Given the description of an element on the screen output the (x, y) to click on. 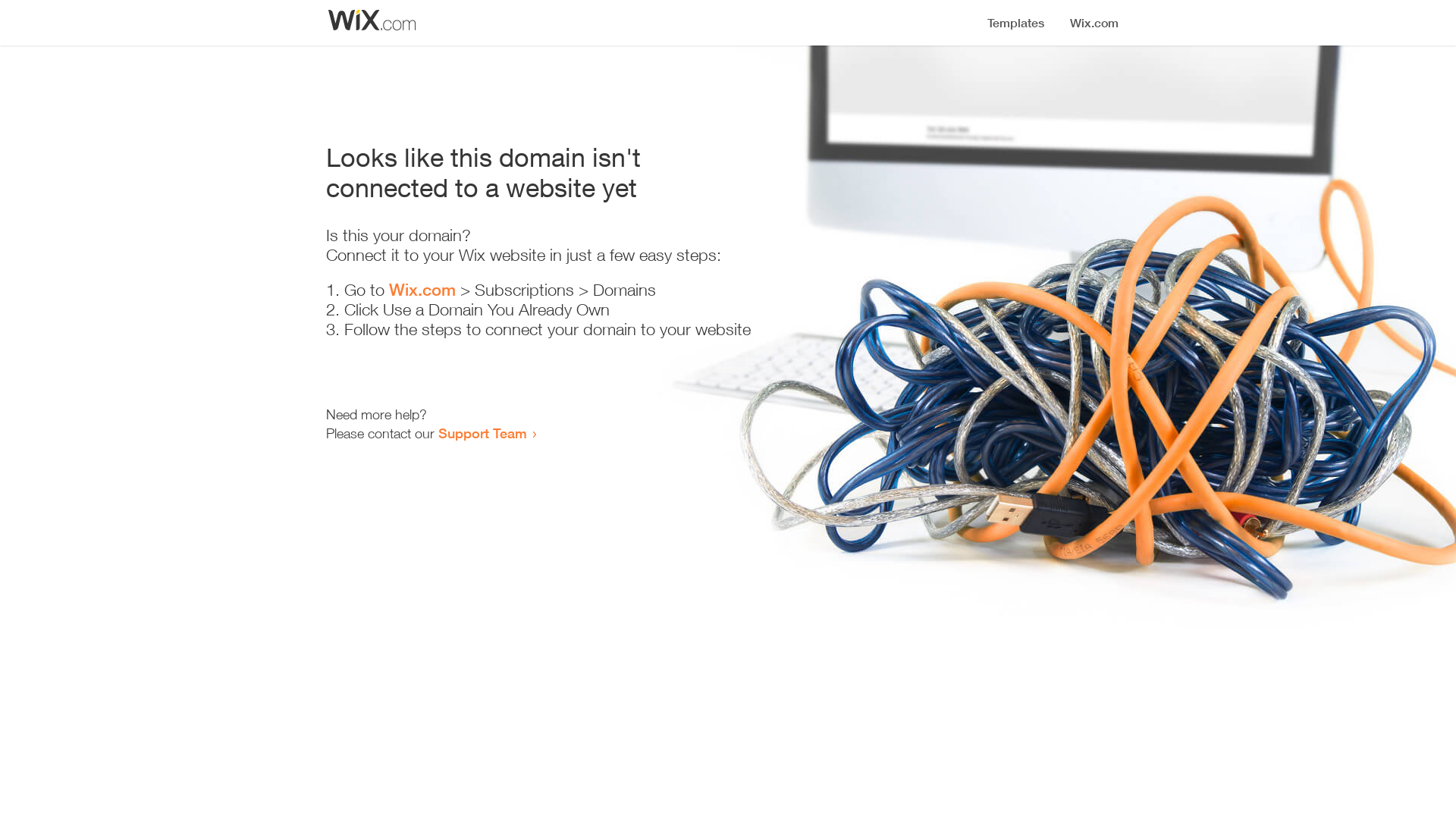
Wix.com Element type: text (422, 289)
Support Team Element type: text (482, 432)
